Given the description of an element on the screen output the (x, y) to click on. 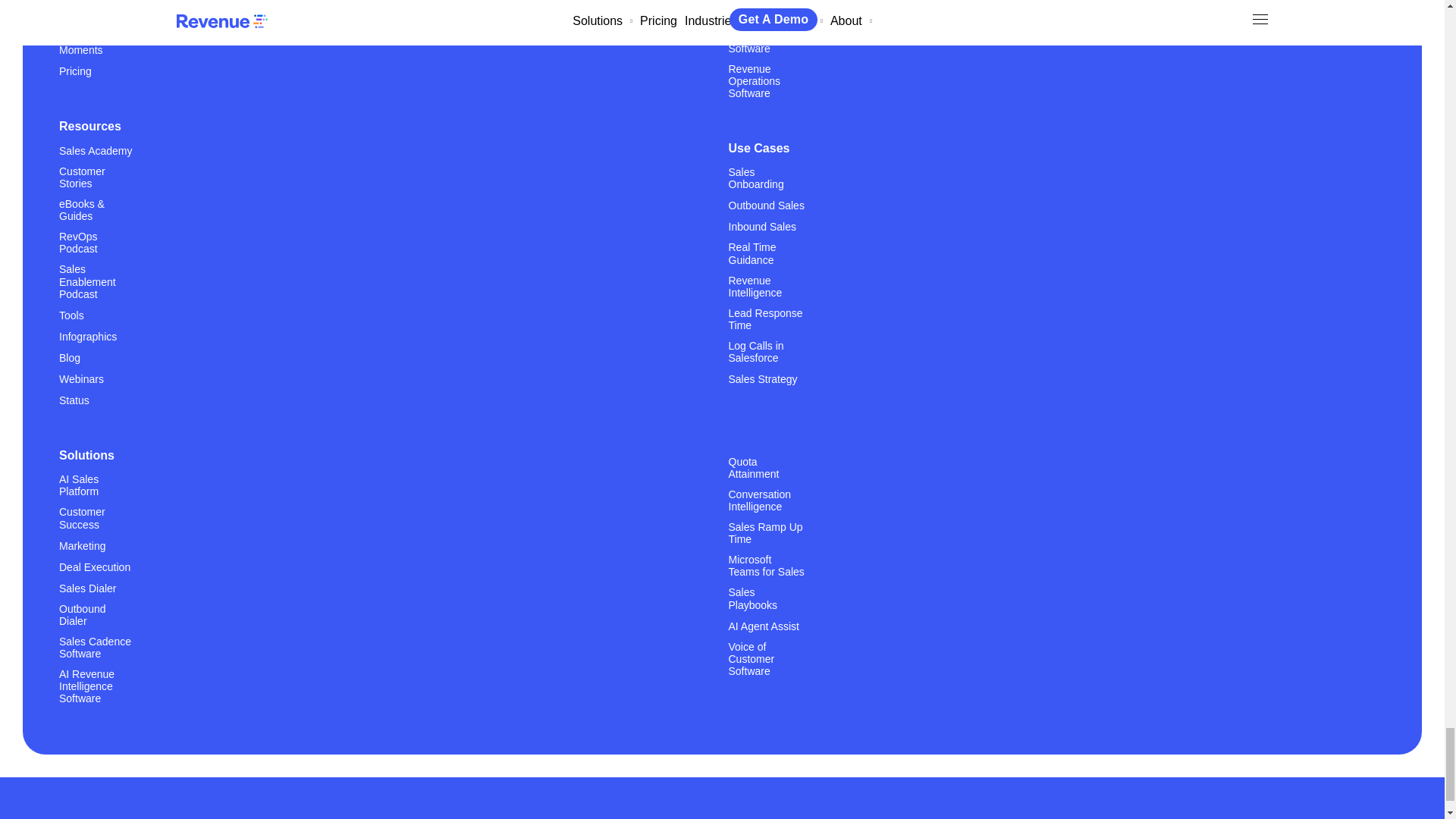
Moments (81, 49)
Pricing (75, 70)
Sales Academy (95, 150)
CallerDNA (84, 28)
Guided Selling (93, 6)
